Given the description of an element on the screen output the (x, y) to click on. 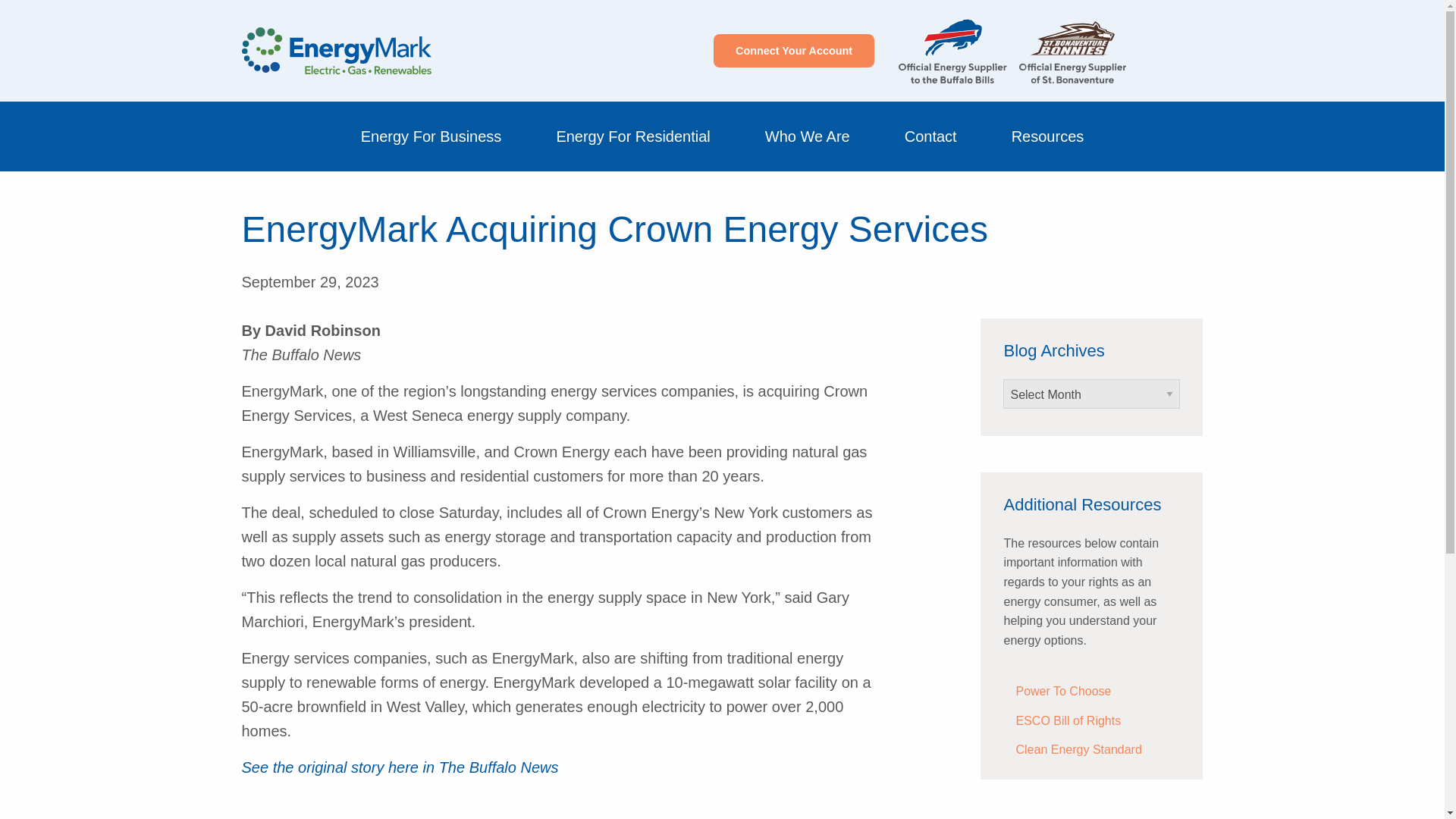
Resources (1048, 136)
Energy For Business (431, 136)
Who We Are (807, 136)
Connect Your Account (794, 50)
Energy For Residential (632, 136)
Contact (930, 136)
